Given the description of an element on the screen output the (x, y) to click on. 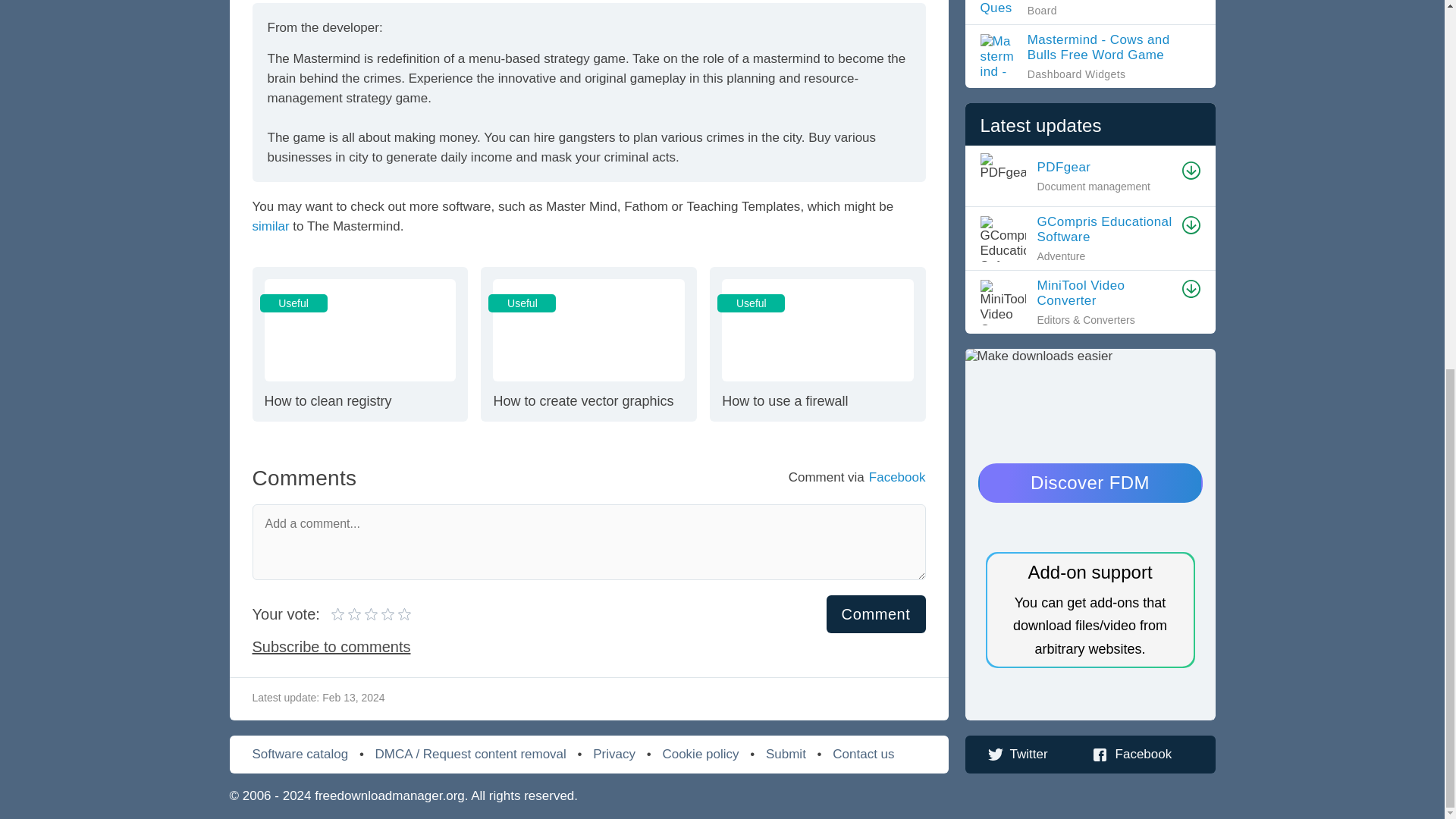
5 (370, 613)
1 (338, 613)
Zombie Quest - Mastermind the hexes! (1089, 8)
Comment (1089, 8)
PDFgear (817, 343)
3 (359, 343)
Mastermind - Cows and Bulls Free Word Game (876, 614)
